Given the description of an element on the screen output the (x, y) to click on. 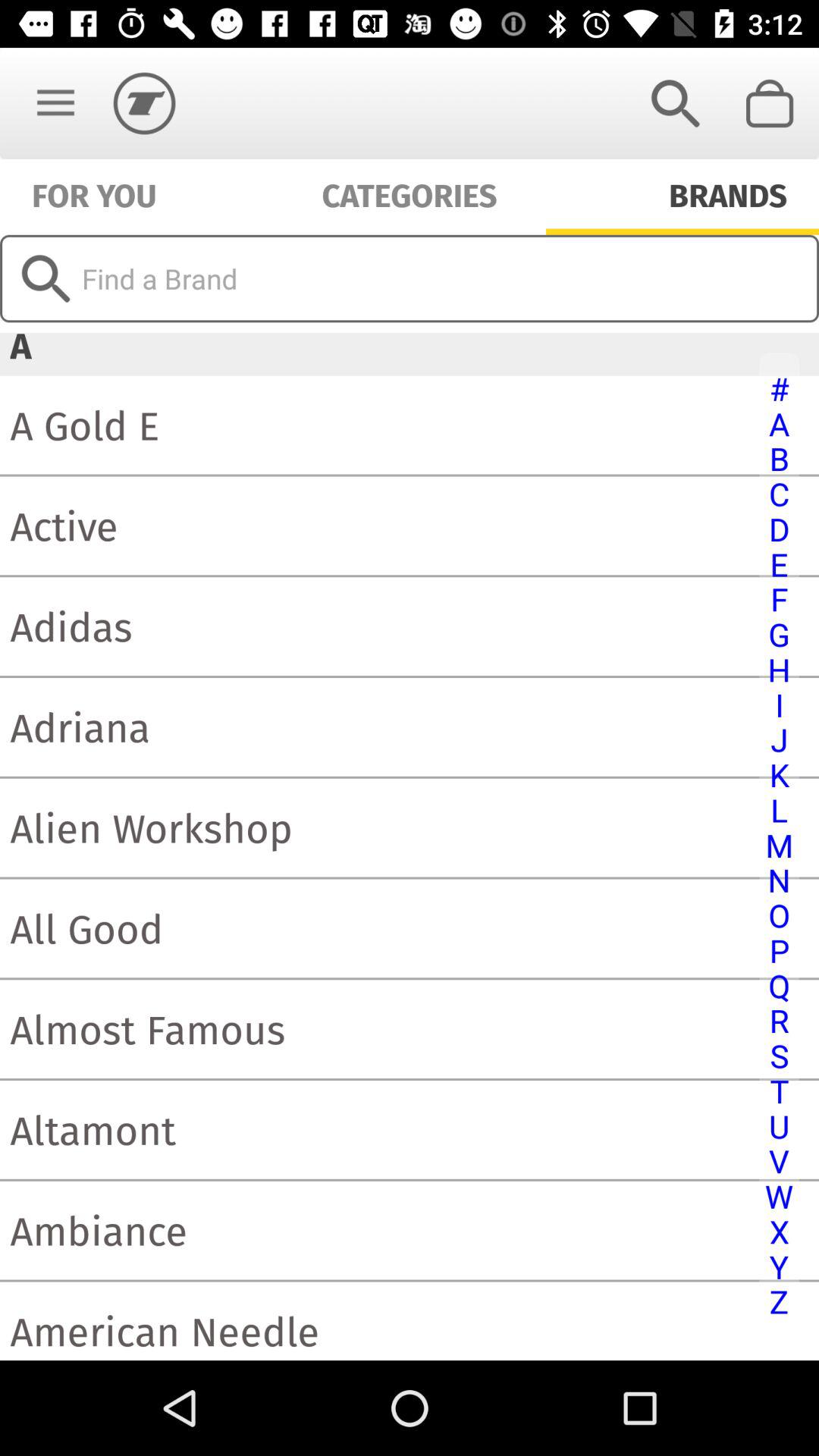
launch the item above for you item (55, 103)
